Given the description of an element on the screen output the (x, y) to click on. 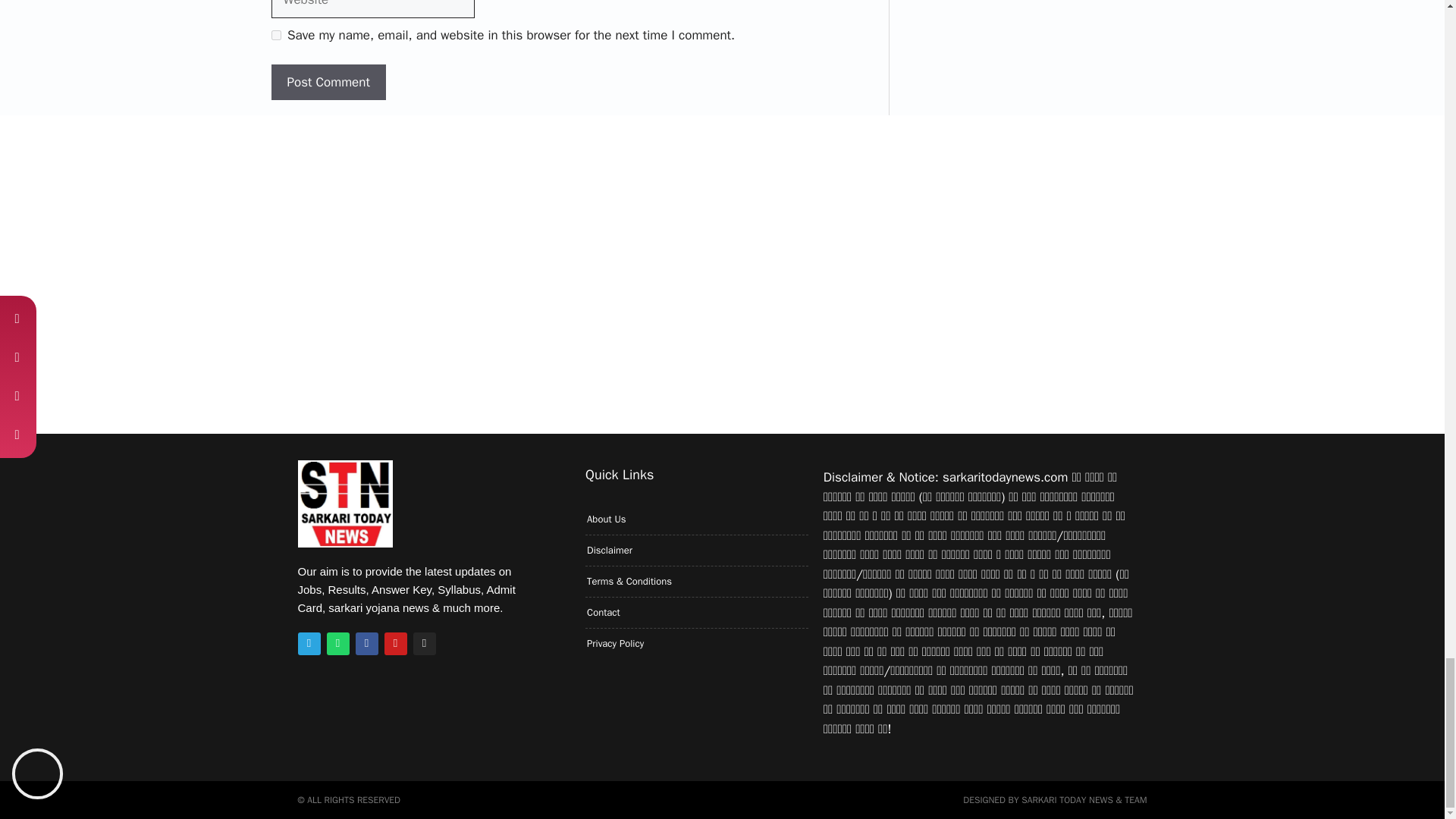
yes (275, 35)
Post Comment (327, 82)
